Given the description of an element on the screen output the (x, y) to click on. 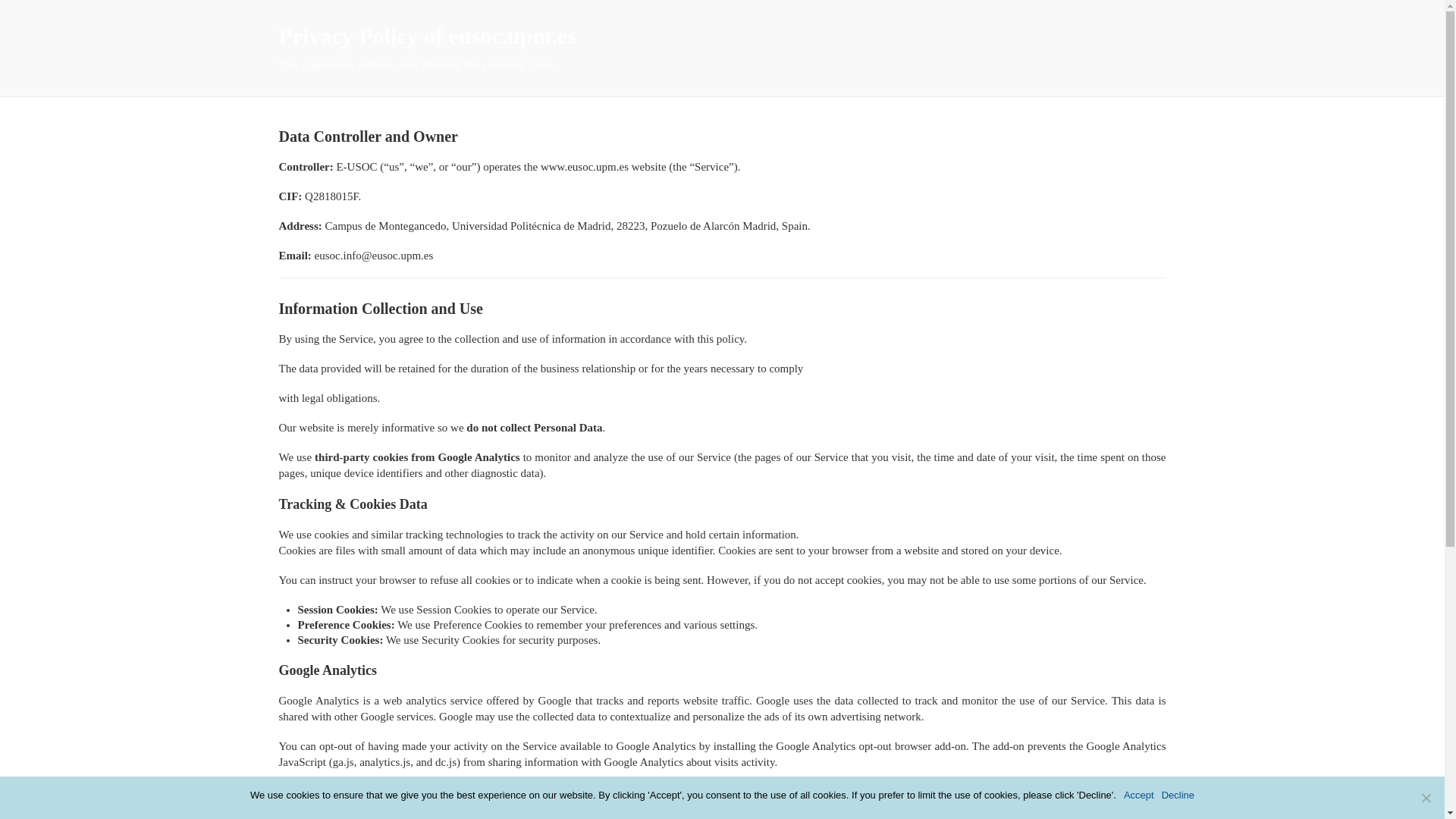
Decline (1425, 797)
Decline (1177, 795)
Accept (1139, 795)
